Given the description of an element on the screen output the (x, y) to click on. 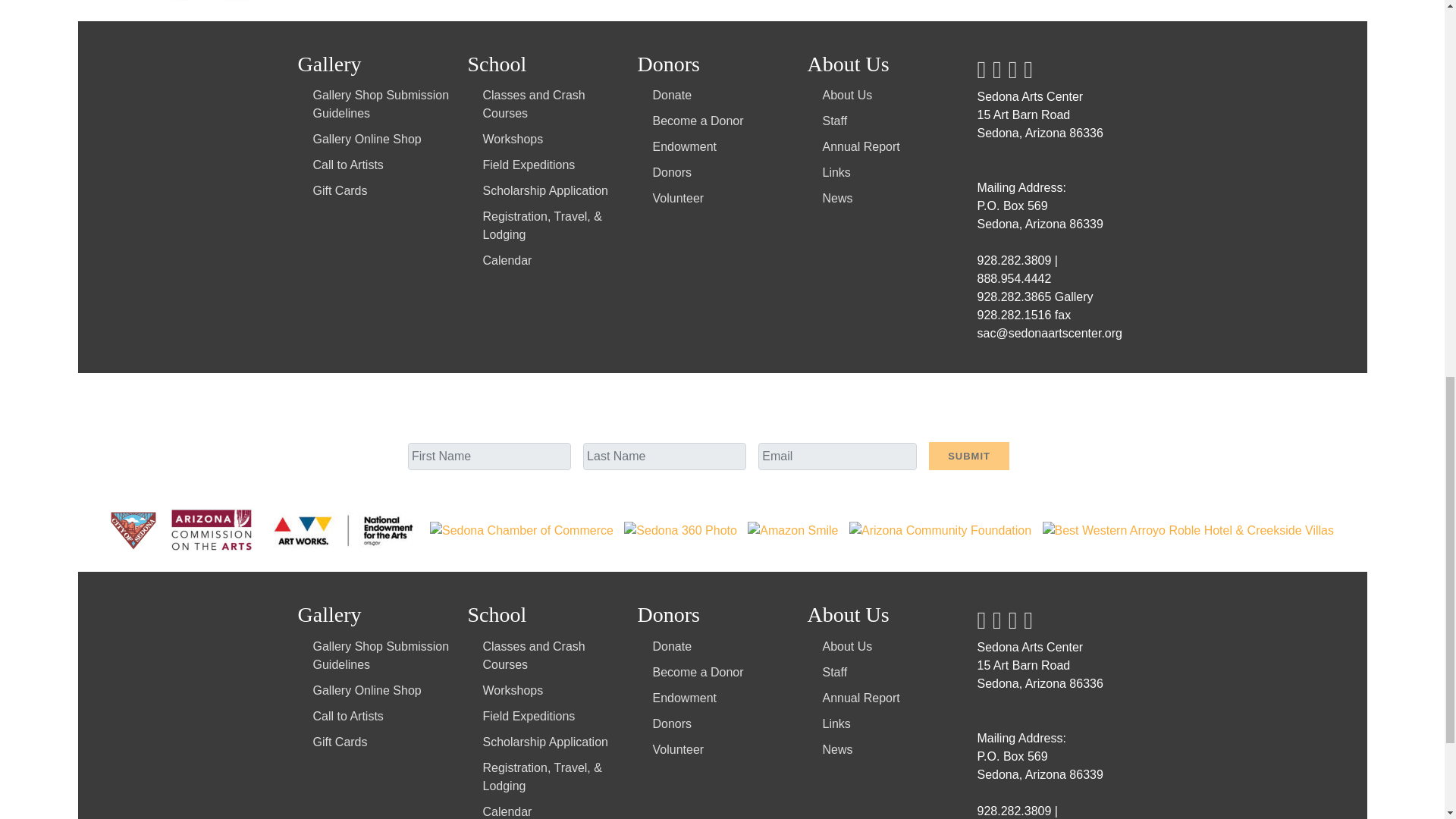
Arizona Commission on the Arts (213, 530)
City of Sedona (134, 530)
National Endowment for the Arts (344, 530)
Submit (968, 456)
